Given the description of an element on the screen output the (x, y) to click on. 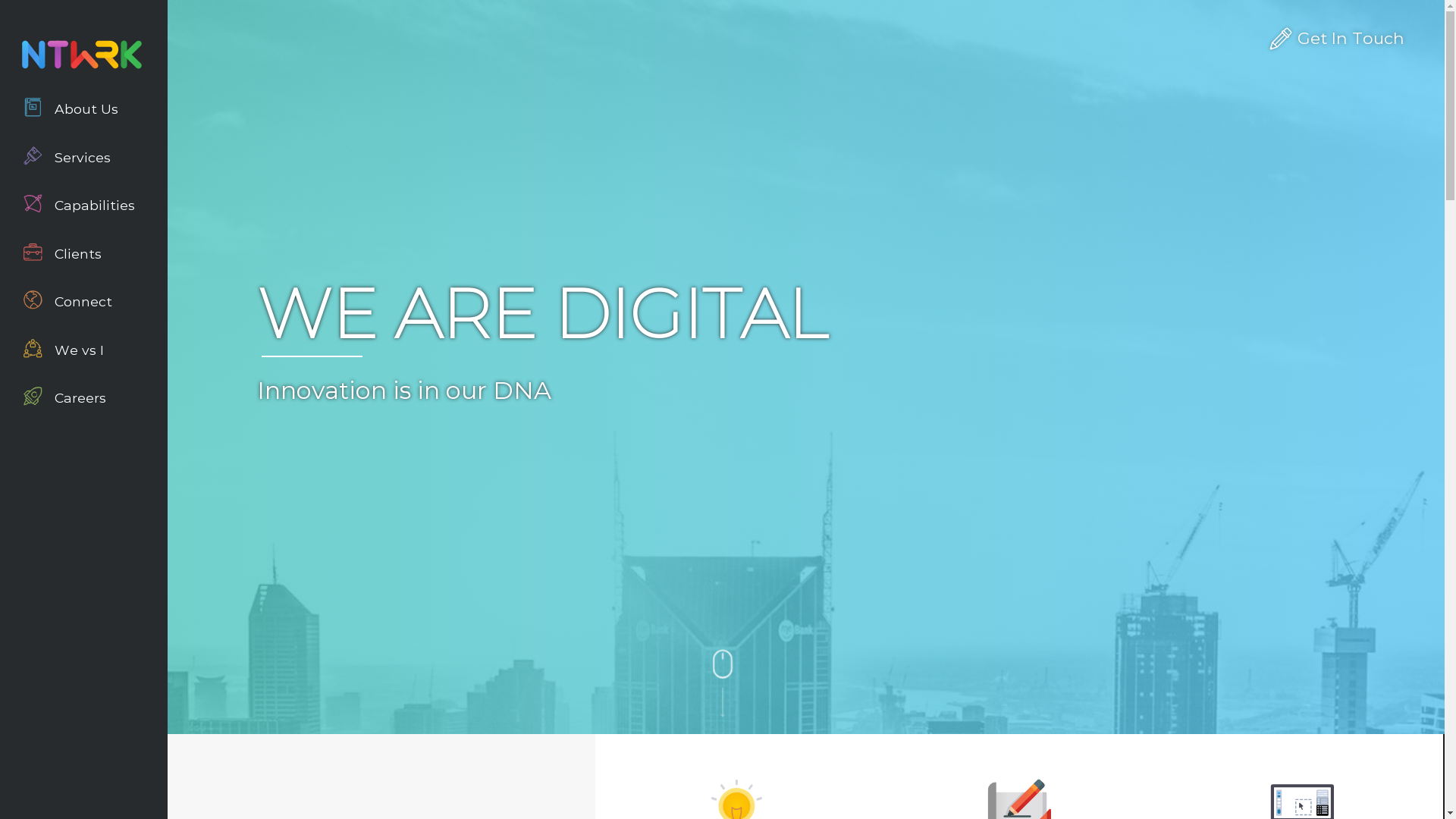
We vs I Element type: text (83, 349)
Careers Element type: text (83, 397)
Services Element type: text (83, 157)
Clients Element type: text (83, 253)
Connect Element type: text (83, 301)
Capabilities Element type: text (83, 205)
Get In Touch Element type: text (1297, 37)
About Us Element type: text (83, 108)
